Given the description of an element on the screen output the (x, y) to click on. 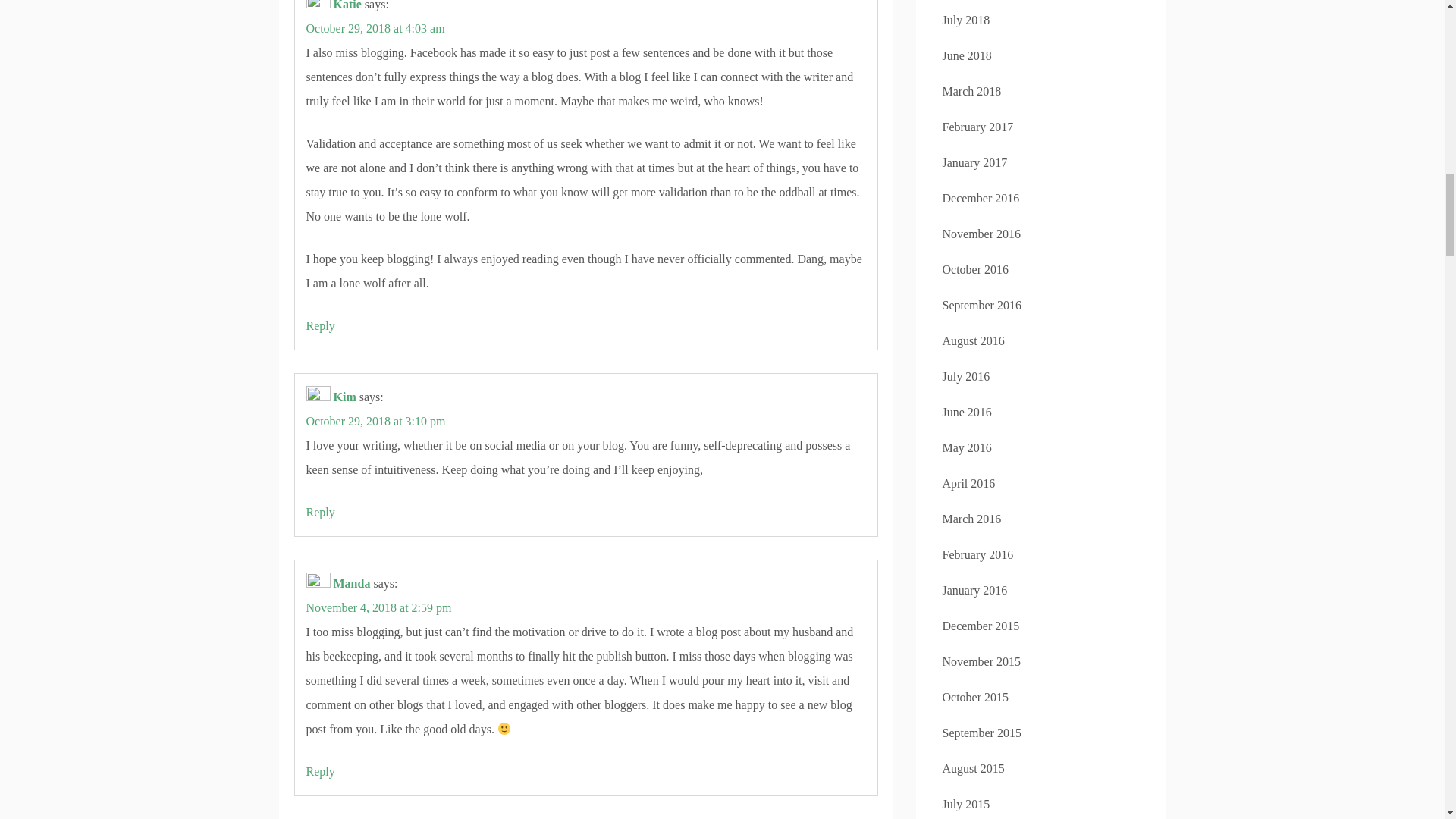
October 29, 2018 at 4:03 am (375, 28)
Katie (347, 5)
Manda (352, 583)
Reply (319, 771)
October 29, 2018 at 3:10 pm (375, 420)
Reply (319, 325)
Reply (319, 512)
November 4, 2018 at 2:59 pm (378, 607)
Kim (344, 396)
